Given the description of an element on the screen output the (x, y) to click on. 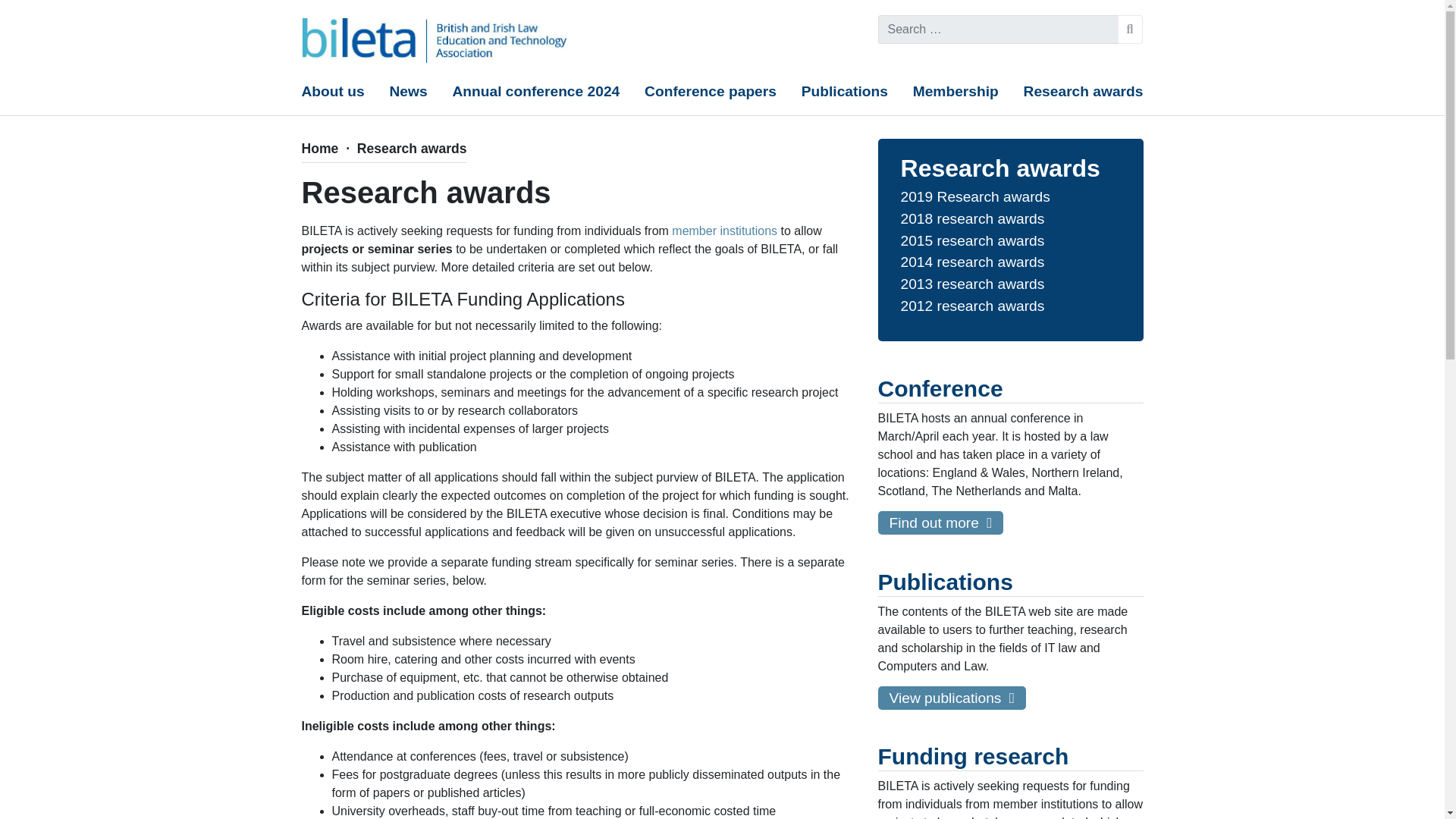
Conference papers (710, 91)
Go to home page. (320, 148)
Membership (955, 91)
Publications (845, 91)
Home (320, 148)
Research awards (1082, 91)
2019 Research awards (975, 196)
News (409, 91)
Find out more (940, 522)
Research awards (1000, 167)
Publications (845, 91)
About us (333, 91)
Annual conference 2024 (535, 91)
2013 research awards (973, 283)
2015 research awards (973, 240)
